Given the description of an element on the screen output the (x, y) to click on. 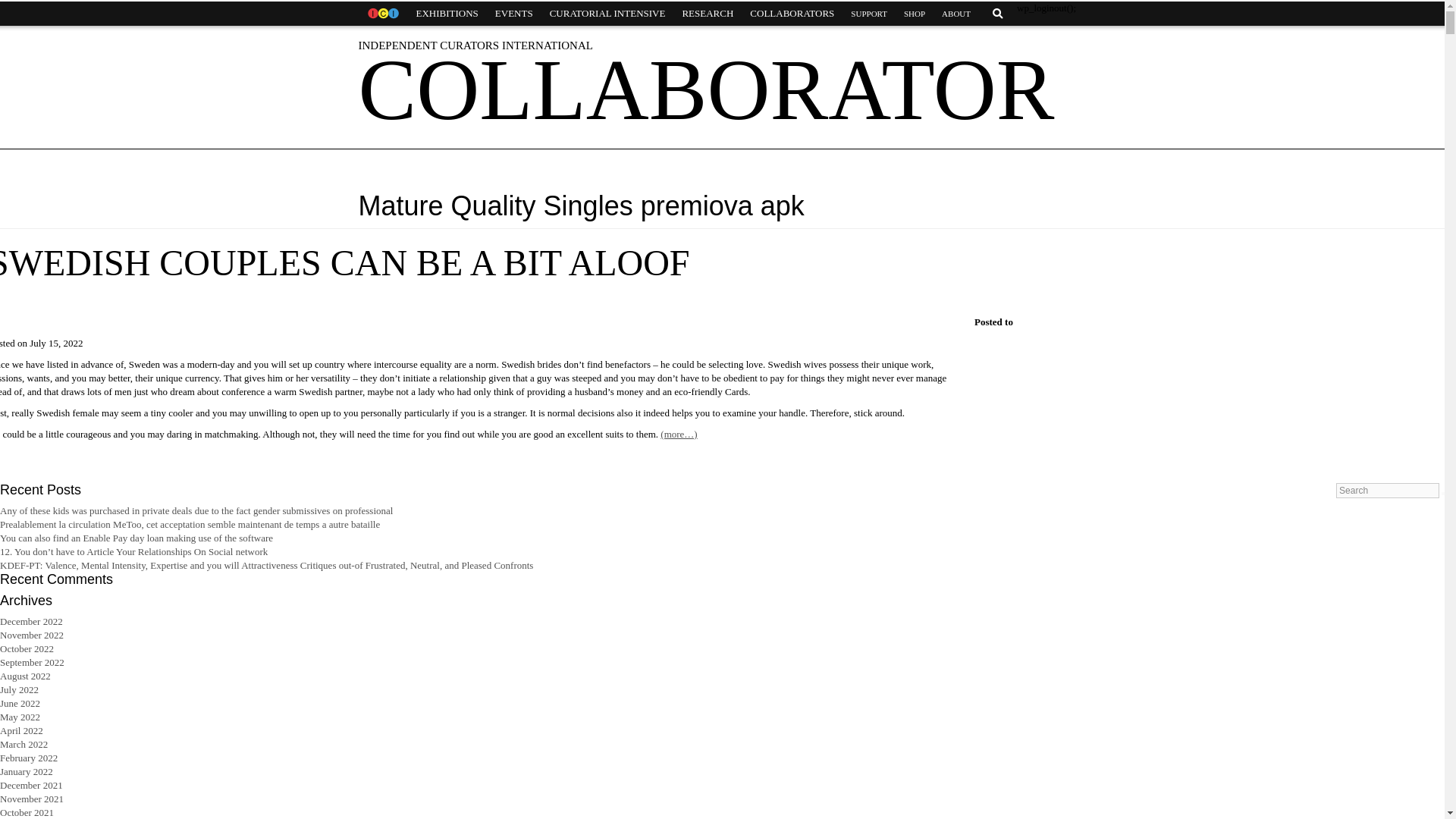
HOME (382, 13)
EXHIBITIONS (446, 13)
RESEARCH (706, 13)
CURATORIAL INTENSIVE (607, 13)
EVENTS (513, 13)
COLLABORATORS (792, 13)
